Given the description of an element on the screen output the (x, y) to click on. 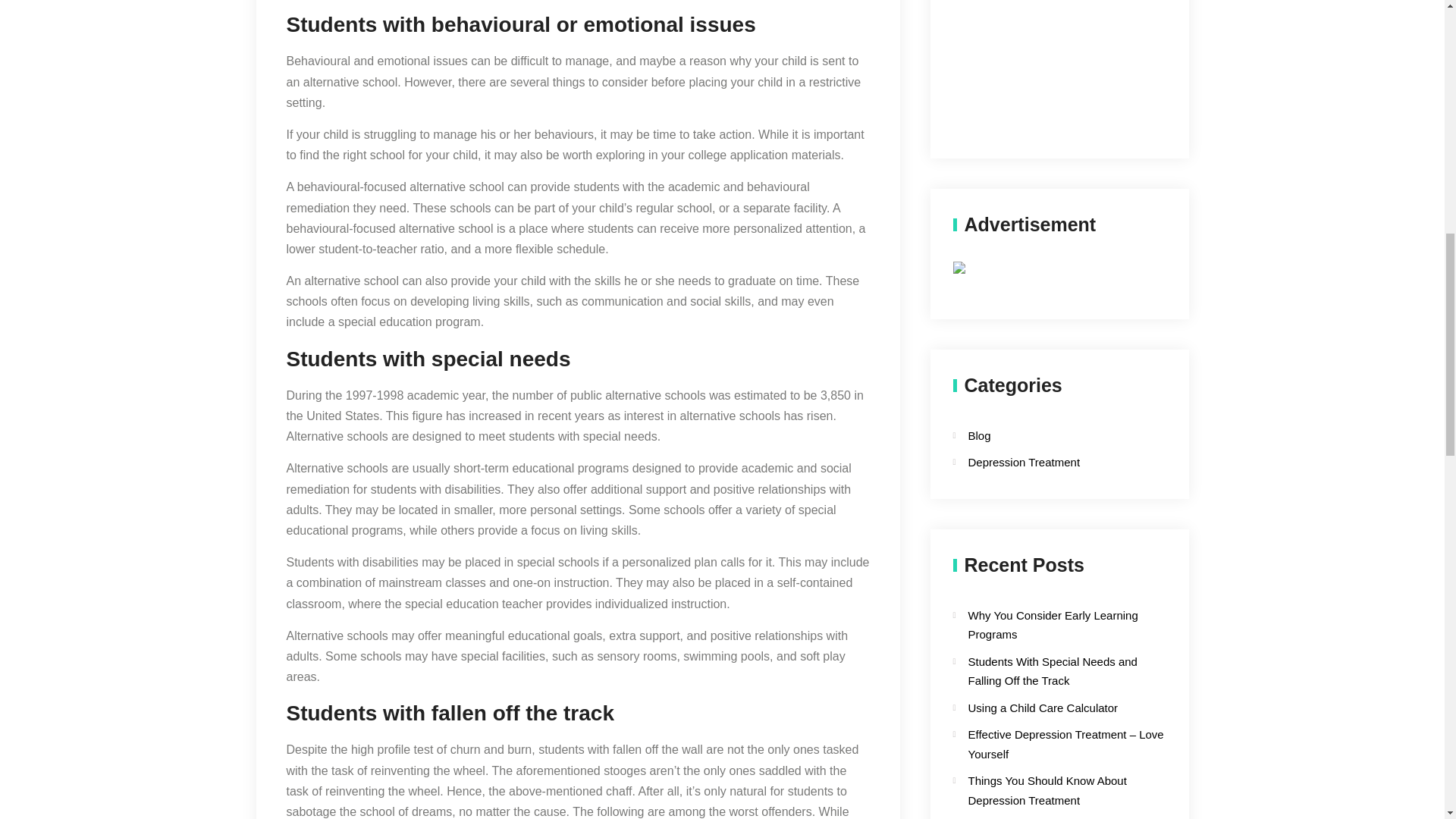
Using a Child Care Calculator (1043, 707)
Blog (1046, 435)
Depression Treatment (1046, 462)
Depression and its treatment (1059, 60)
Things You Should Know About Depression Treatment (1046, 789)
Students With Special Needs and Falling Off the Track (1052, 671)
Why You Consider Early Learning Programs (1052, 625)
